Given the description of an element on the screen output the (x, y) to click on. 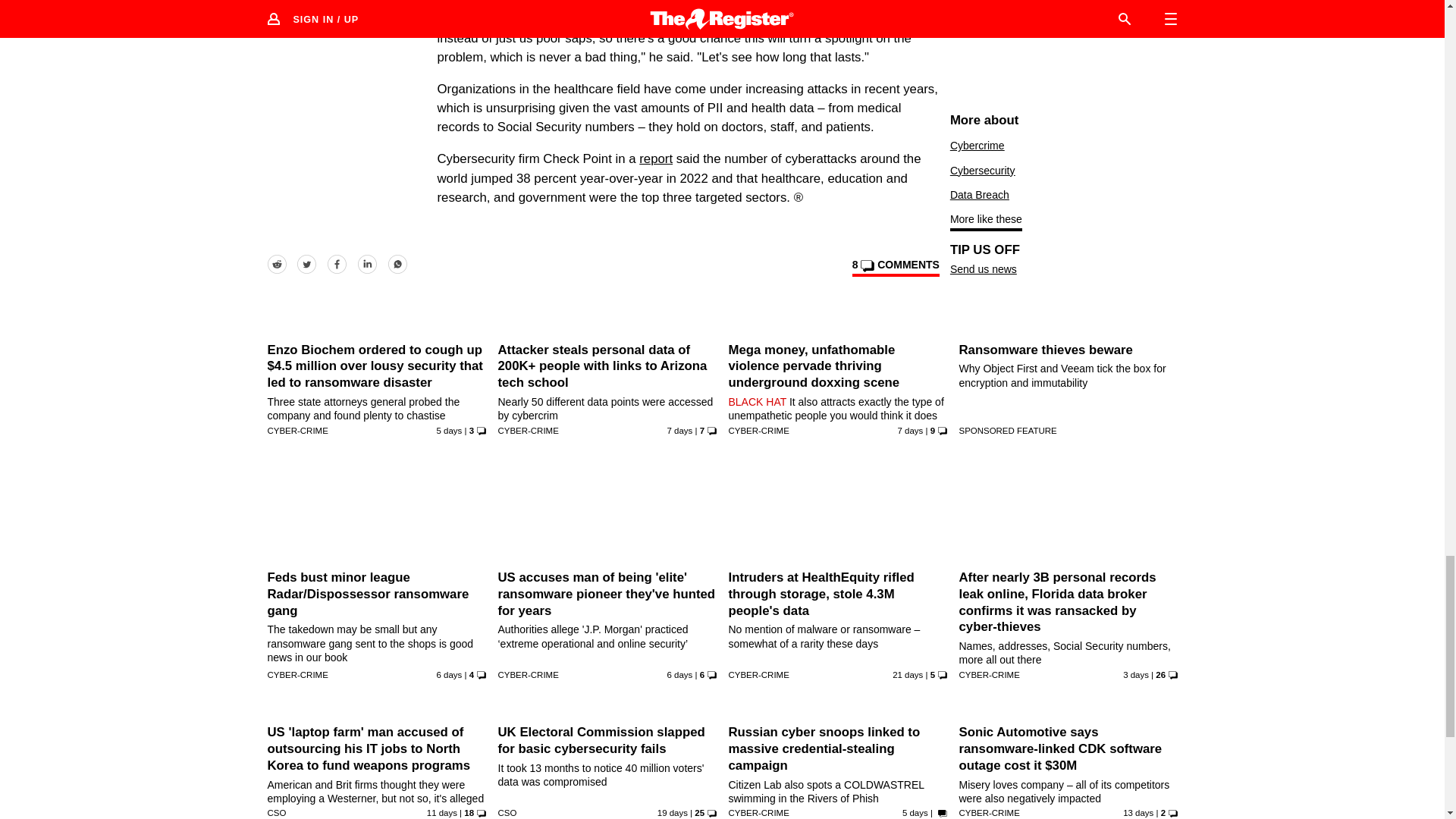
View comments on this article (895, 267)
14 Aug 2024 17:2 (449, 429)
16 Aug 2024 20:45 (1135, 674)
12 Aug 2024 14:24 (910, 429)
12 Aug 2024 16:25 (679, 429)
31 Jul 2024 8:30 (672, 812)
13 Aug 2024 15:23 (449, 674)
8 Aug 2024 20:55 (441, 812)
13 Aug 2024 17:30 (679, 674)
29 Jul 2024 13:45 (907, 674)
